Given the description of an element on the screen output the (x, y) to click on. 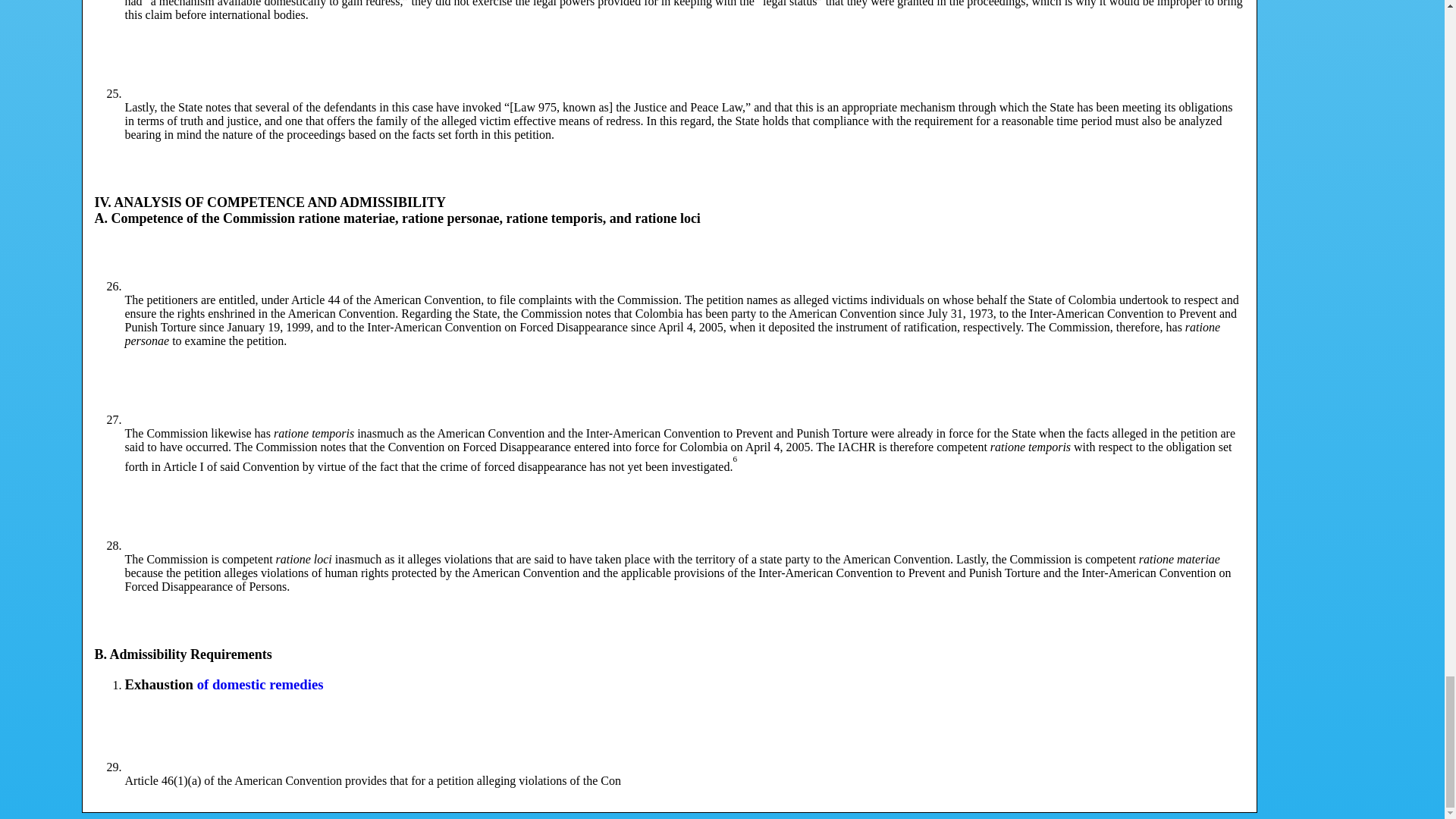
of domestic remedies (259, 684)
